Given the description of an element on the screen output the (x, y) to click on. 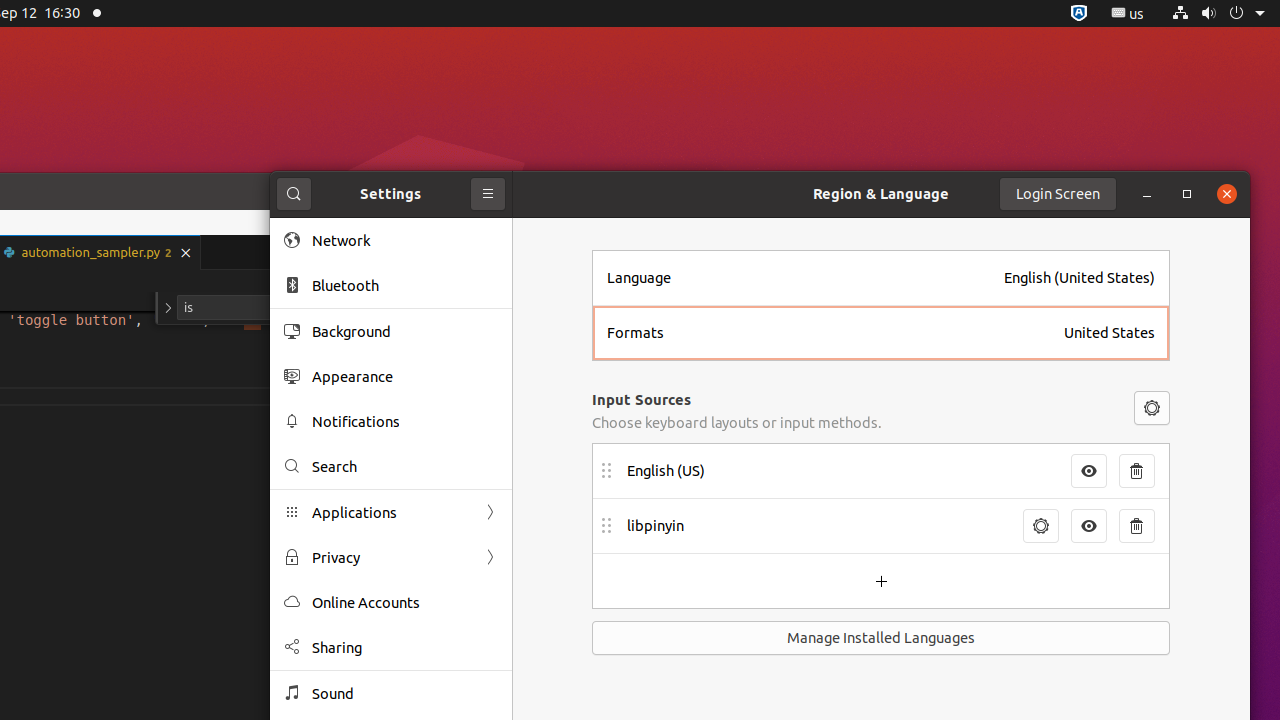
Appearance Element type: label (405, 376)
Language Element type: label (799, 278)
Menu Element type: toggle-button (1152, 407)
Formats Element type: label (829, 333)
Sharing Element type: label (405, 647)
